Given the description of an element on the screen output the (x, y) to click on. 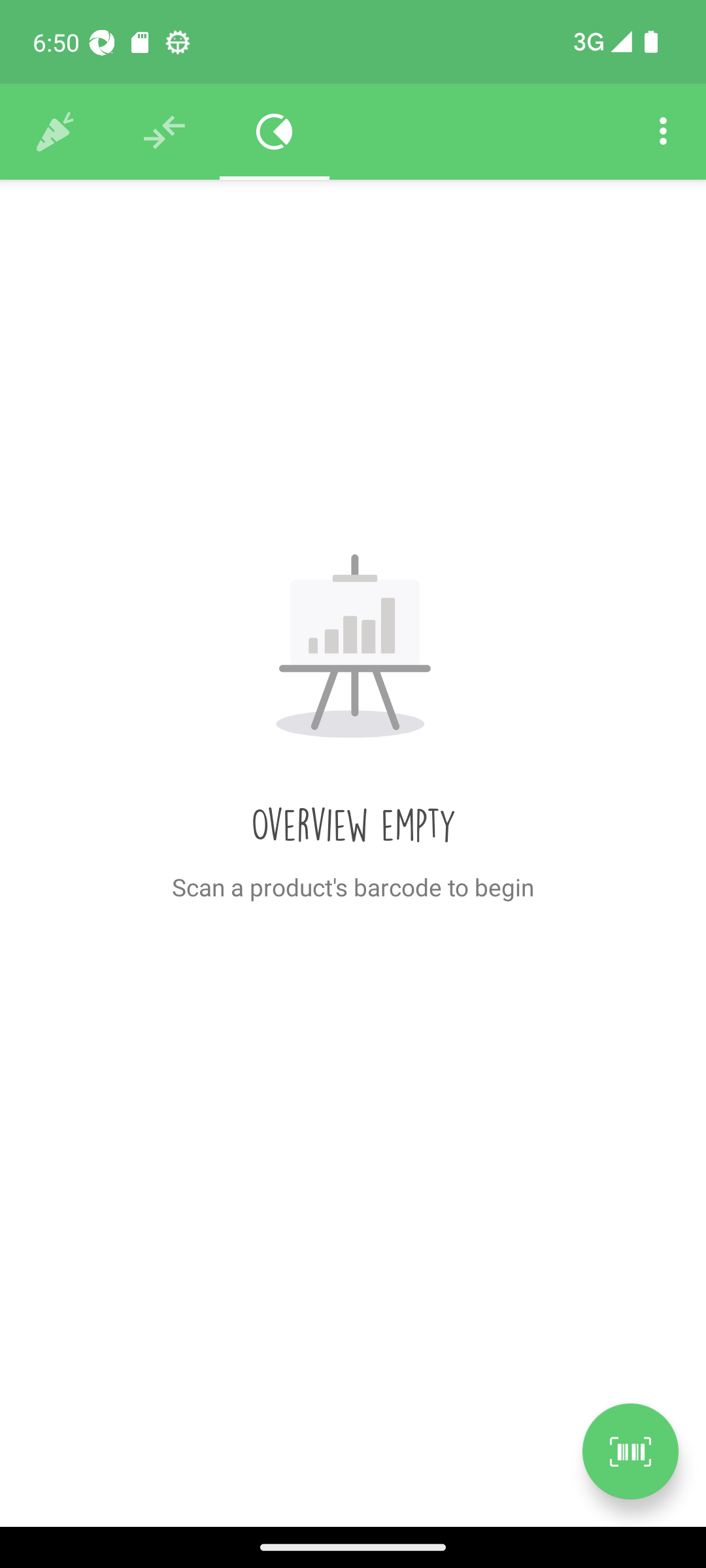
History (55, 131)
Recommendations (164, 131)
Settings (663, 131)
Scan a product (630, 1451)
